Given the description of an element on the screen output the (x, y) to click on. 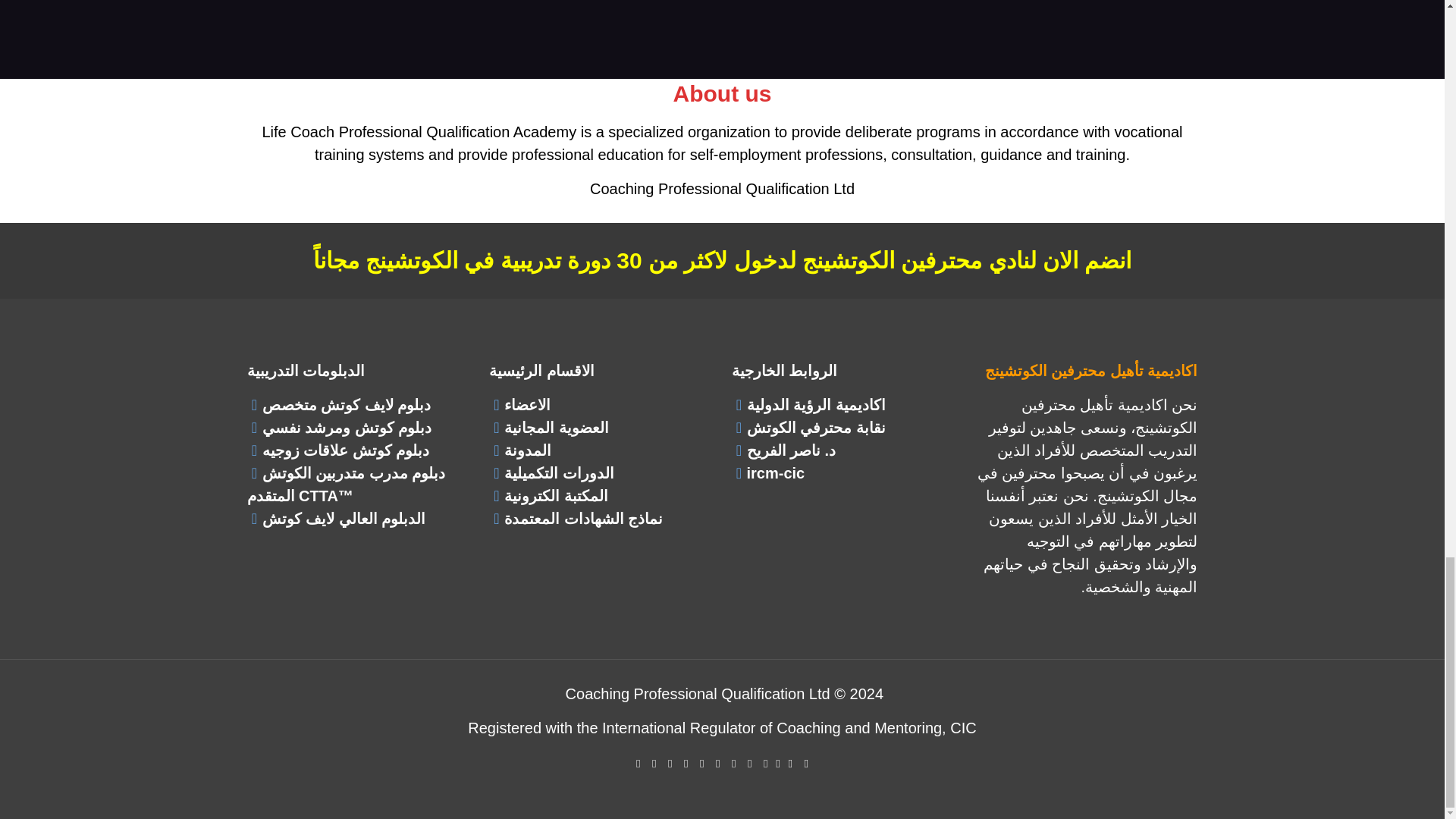
Coaching Professional Qualification Ltd (721, 188)
